Given the description of an element on the screen output the (x, y) to click on. 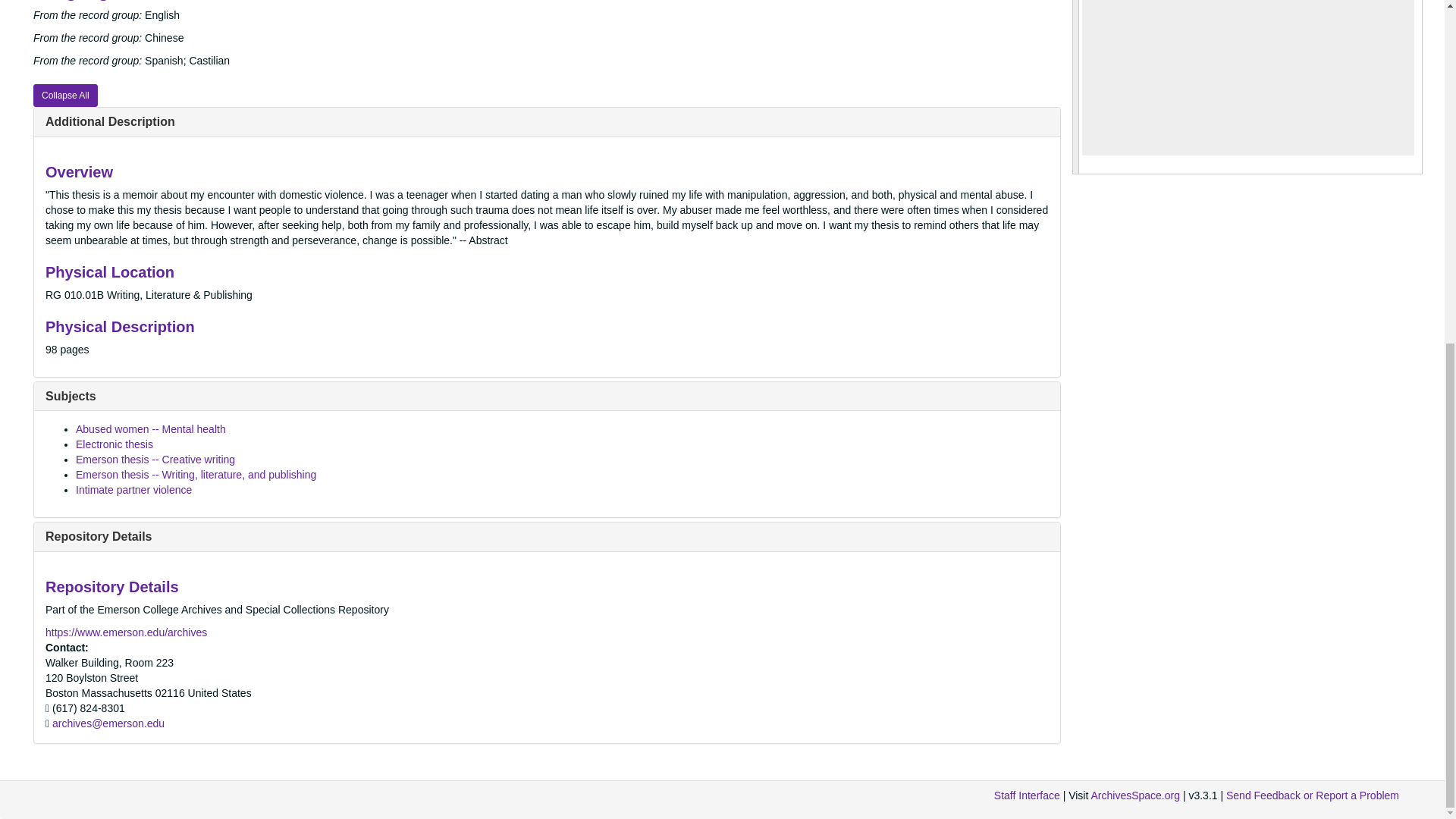
Additional Description (109, 121)
Abused women -- Mental health (150, 428)
Send email (108, 723)
Intimate partner violence (133, 490)
Subjects (70, 395)
Emerson thesis -- Creative writing (154, 459)
Electronic thesis (113, 444)
Collapse All (65, 95)
Repository Details (98, 535)
Emerson thesis -- Writing, literature, and publishing (195, 474)
